Given the description of an element on the screen output the (x, y) to click on. 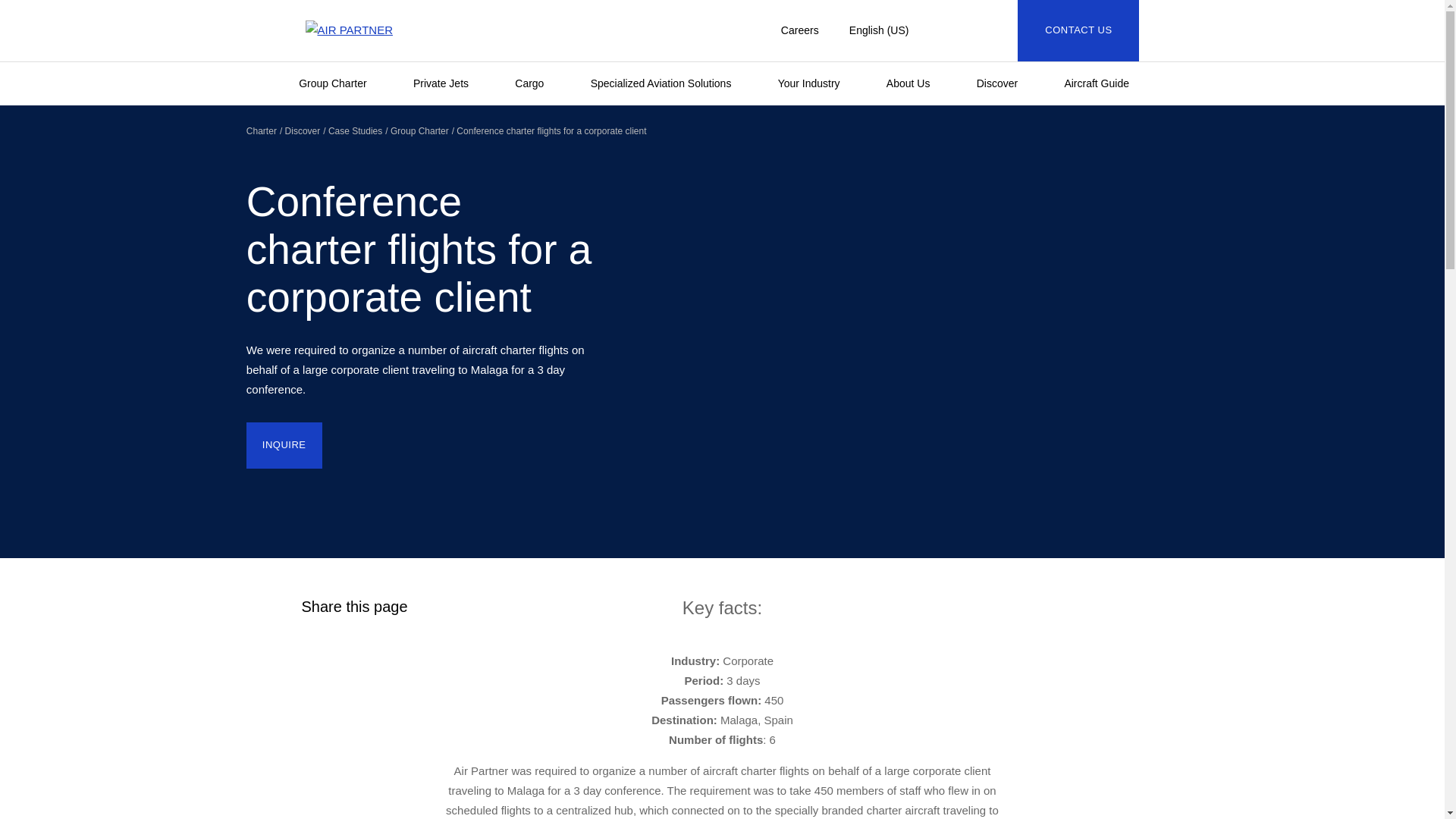
CONTACT US (1077, 30)
Your Industry (816, 83)
Search (971, 29)
Careers (799, 30)
Private Jets (448, 83)
Group Charter (340, 83)
Cargo (537, 83)
Specialized Aviation Solutions (668, 83)
